Given the description of an element on the screen output the (x, y) to click on. 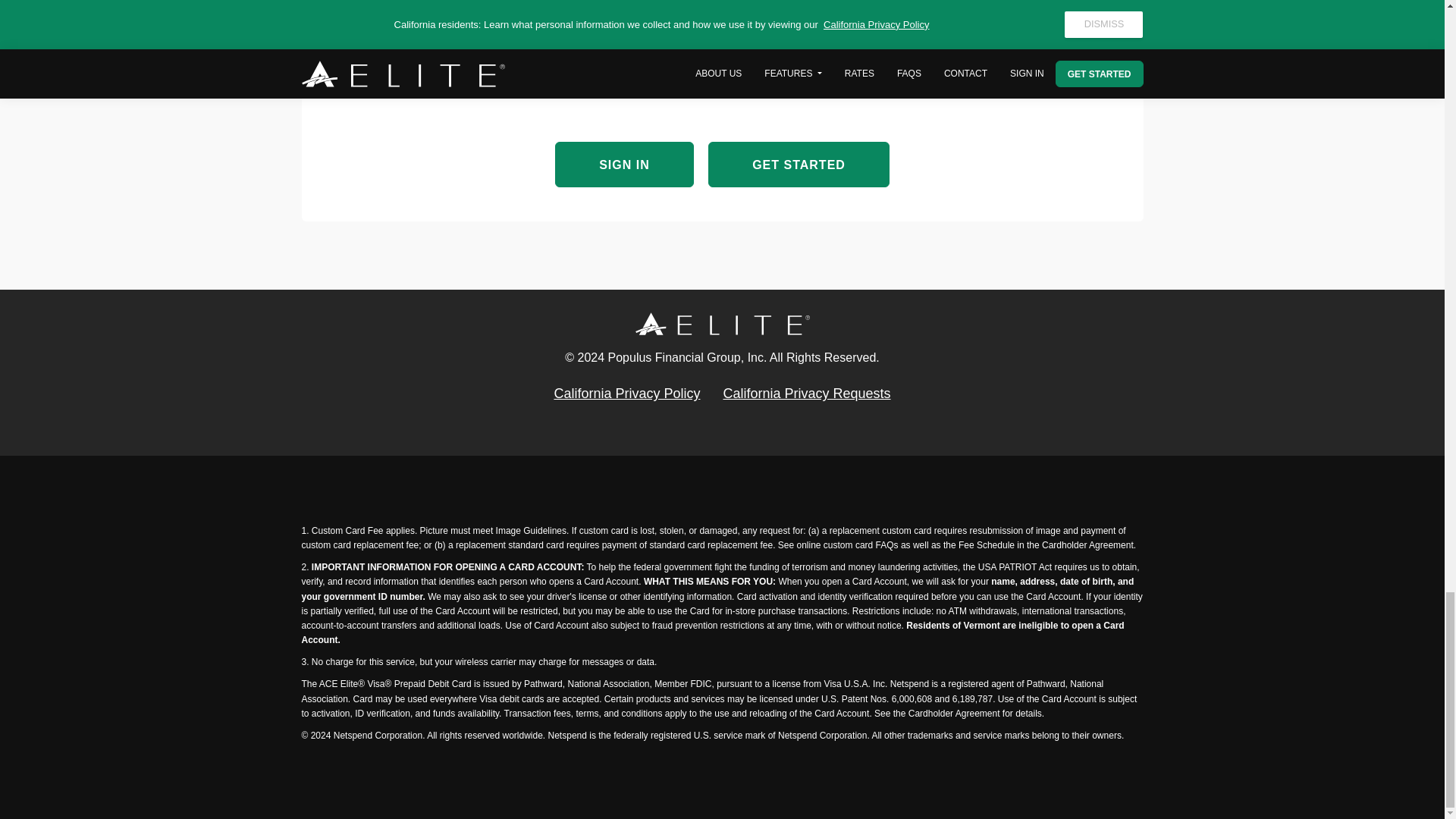
California Privacy Policy (626, 393)
GET STARTED (798, 164)
Online Account Center (857, 19)
SIGN IN (624, 164)
California Privacy Requests (806, 393)
